Given the description of an element on the screen output the (x, y) to click on. 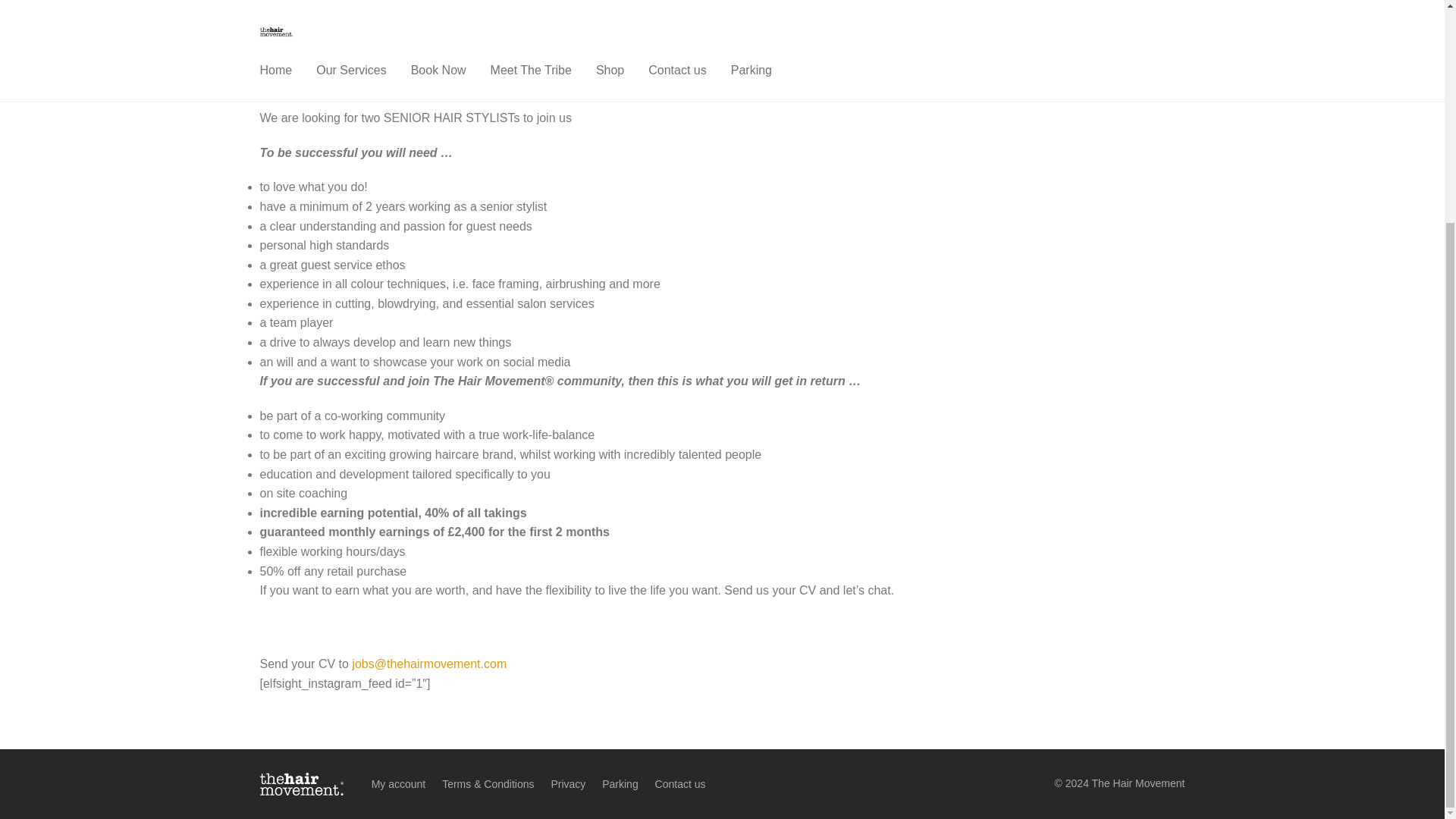
Privacy (567, 784)
My account (398, 784)
Contact us (680, 784)
Parking (619, 784)
